Given the description of an element on the screen output the (x, y) to click on. 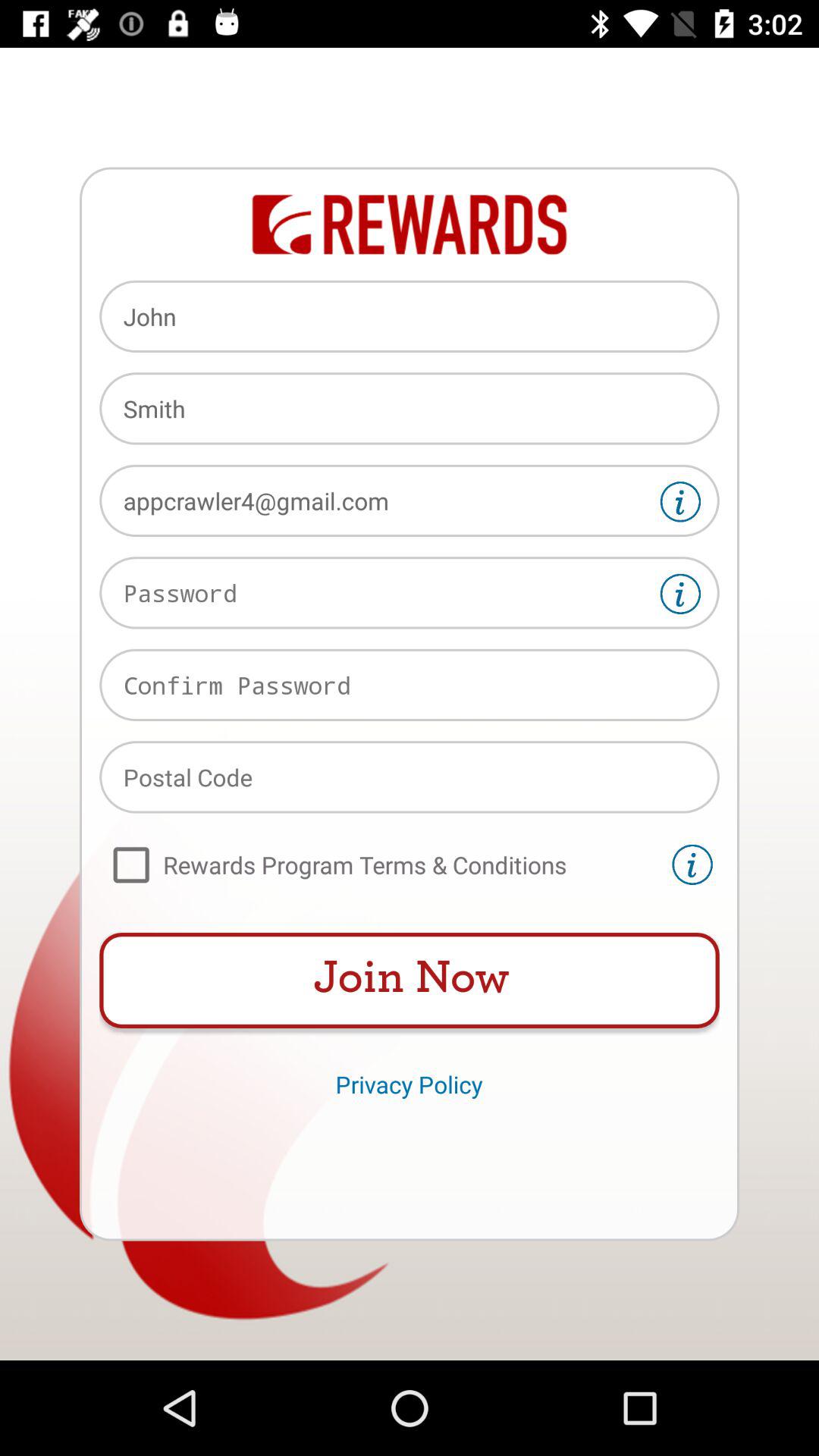
open the smith (409, 408)
